Given the description of an element on the screen output the (x, y) to click on. 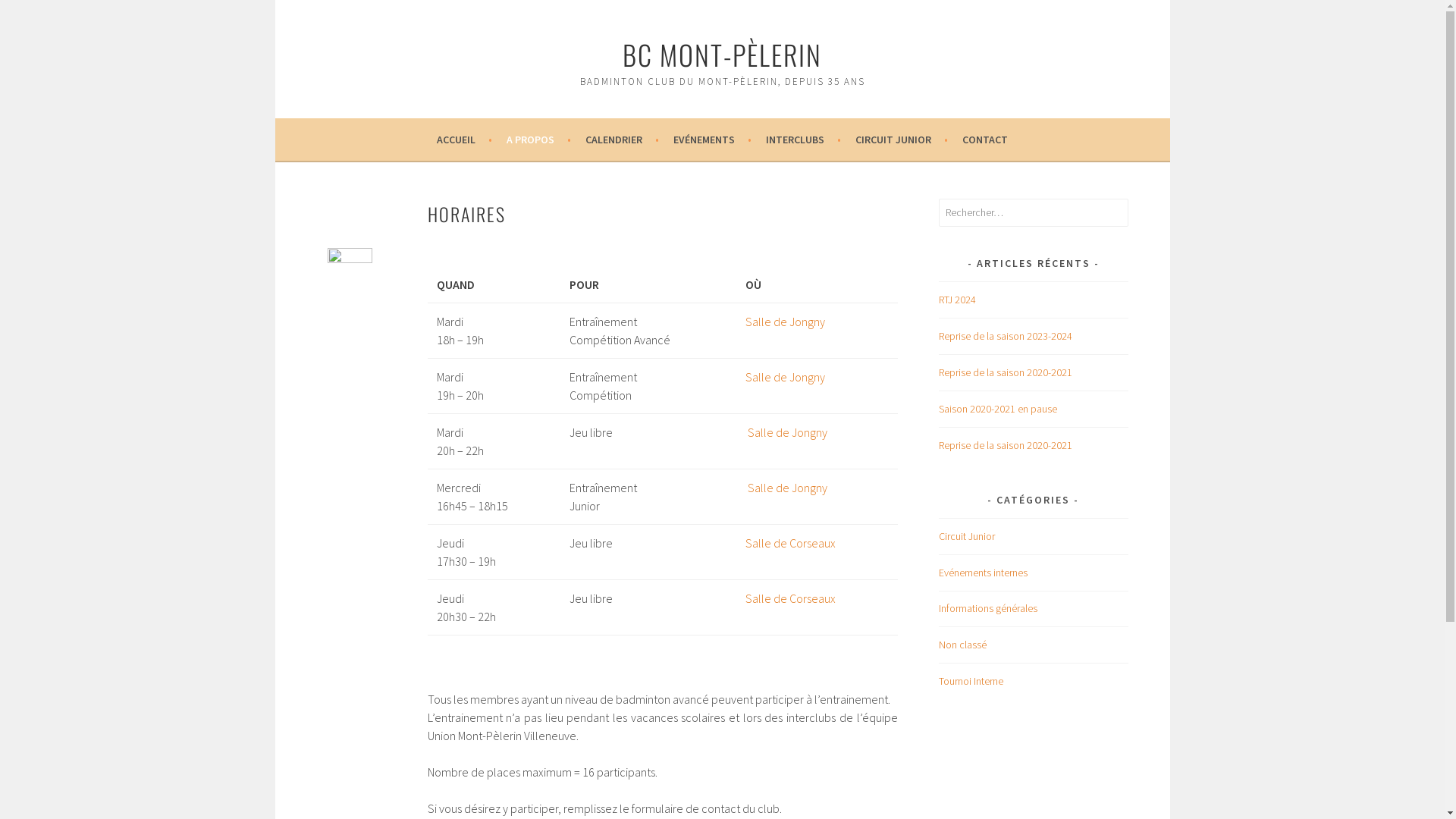
RTJ 2024 Element type: text (956, 299)
Salle de Jongny Element type: text (787, 487)
Salle de Jongny Element type: text (787, 431)
INTERCLUBS Element type: text (802, 139)
Circuit Junior Element type: text (966, 535)
CALENDRIER Element type: text (621, 139)
Reprise de la saison 2020-2021 Element type: text (1005, 372)
Rechercher Element type: text (37, 13)
Salle de Corseaux Element type: text (790, 597)
CIRCUIT JUNIOR Element type: text (901, 139)
Saison 2020-2021 en pause Element type: text (997, 408)
Salle de Jongny Element type: text (785, 376)
A PROPOS Element type: text (538, 139)
Salle de Jongny Element type: text (785, 321)
Tournoi Interne Element type: text (970, 680)
ACCUEIL Element type: text (464, 139)
Reprise de la saison 2020-2021 Element type: text (1005, 444)
Reprise de la saison 2023-2024 Element type: text (1005, 335)
CONTACT Element type: text (984, 139)
Salle de Corseaux Element type: text (790, 542)
